Given the description of an element on the screen output the (x, y) to click on. 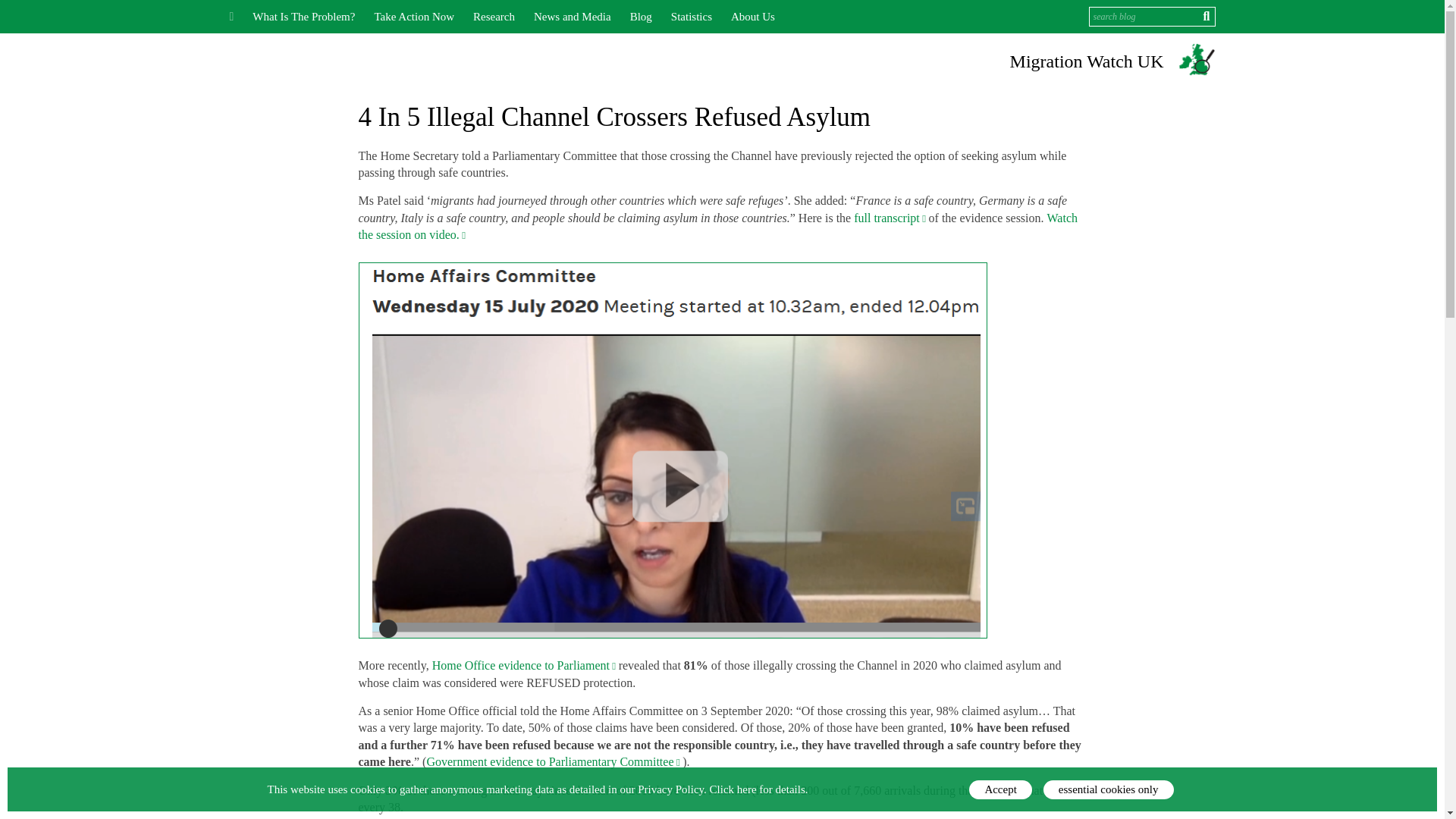
full transcript (890, 217)
Watch the session on video. (717, 225)
Home Office evidence to Parliament (525, 665)
Take Action Now (414, 16)
Statistics (691, 16)
About Us (752, 16)
News and Media (572, 16)
Government evidence to Parliamentary Committee (554, 761)
What Is The Problem? (303, 16)
Research (494, 16)
